Given the description of an element on the screen output the (x, y) to click on. 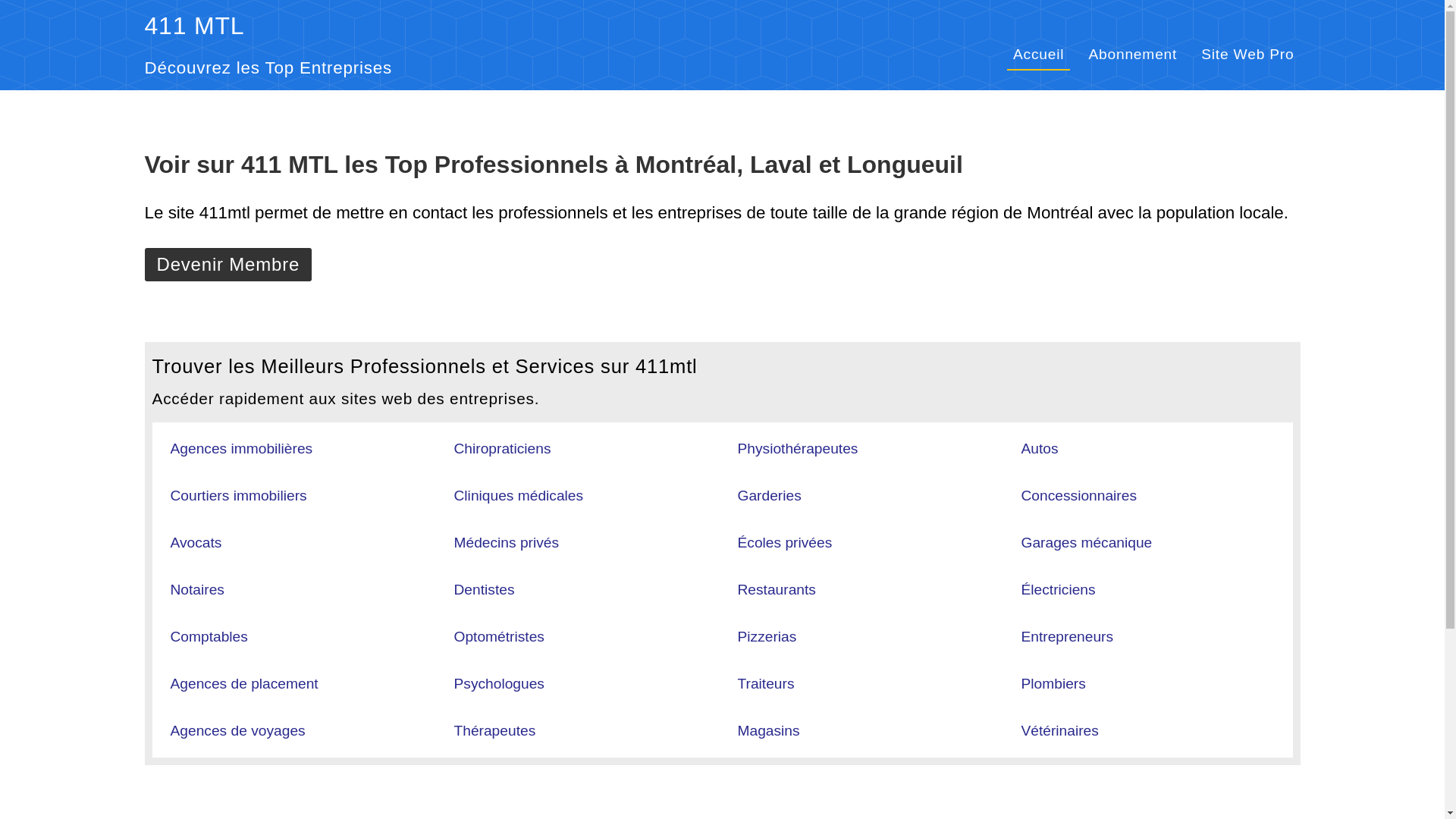
Accueil Element type: text (1038, 55)
Notaires Element type: text (196, 589)
Traiteurs Element type: text (765, 683)
Site Web Pro Element type: text (1247, 54)
Devenir Membre Element type: text (227, 264)
Plombiers Element type: text (1052, 683)
411 MTL Element type: text (194, 26)
Autos Element type: text (1038, 448)
Comptables Element type: text (208, 636)
Magasins Element type: text (768, 730)
Avocats Element type: text (195, 542)
Pizzerias Element type: text (766, 636)
Agences de placement Element type: text (243, 683)
Chiropraticiens Element type: text (501, 448)
Entrepreneurs Element type: text (1066, 636)
Dentistes Element type: text (483, 589)
Garderies Element type: text (768, 495)
Concessionnaires Element type: text (1078, 495)
Psychologues Element type: text (498, 683)
Restaurants Element type: text (776, 589)
Courtiers immobiliers Element type: text (237, 495)
Agences de voyages Element type: text (236, 730)
Abonnement Element type: text (1132, 54)
